Given the description of an element on the screen output the (x, y) to click on. 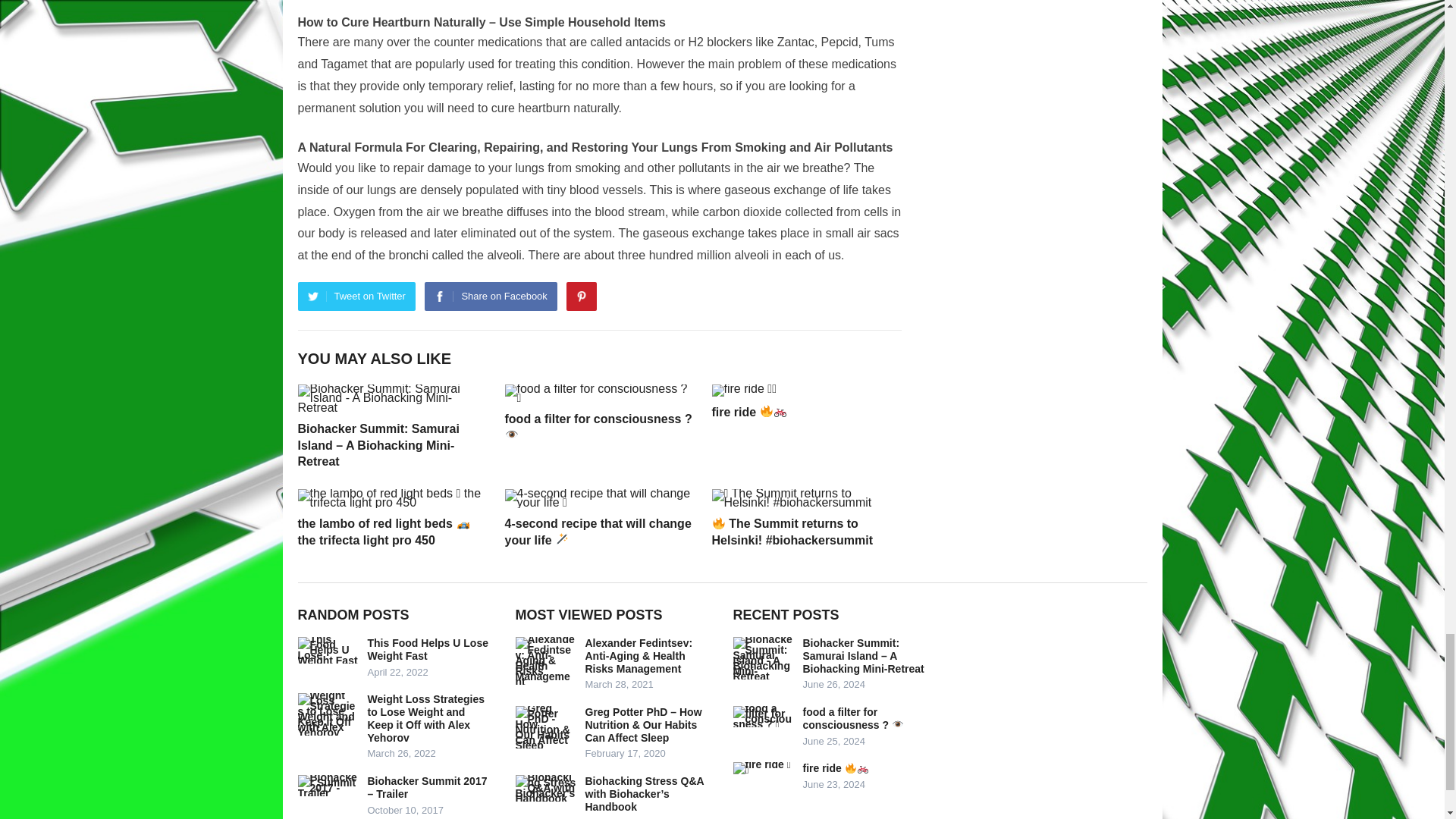
food a filter for consciousness ? (599, 427)
Share on Facebook (490, 296)
Tweet on Twitter (355, 296)
Pinterest (581, 296)
